Given the description of an element on the screen output the (x, y) to click on. 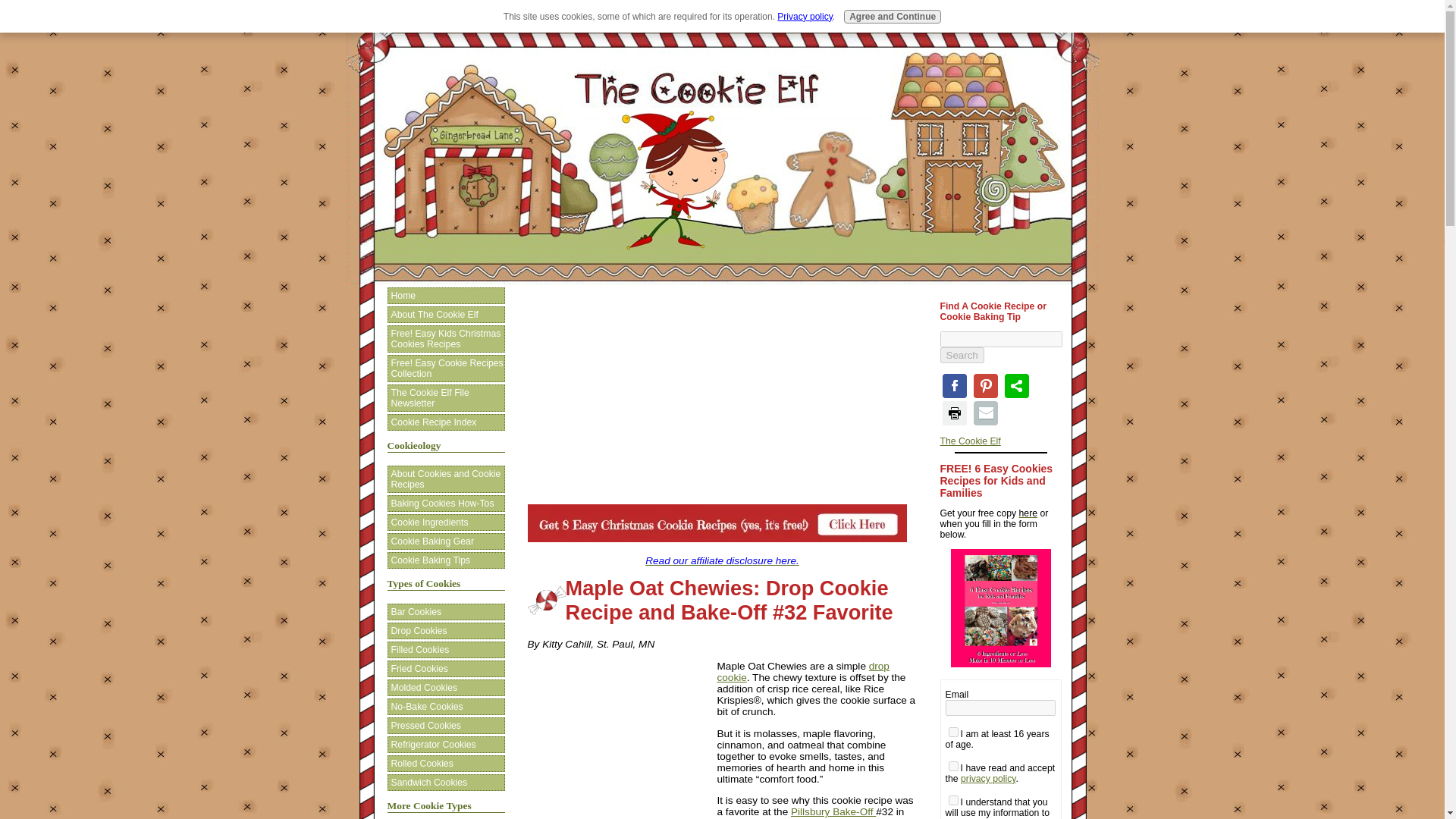
drop cookie (803, 671)
Advertisement (622, 739)
on (953, 732)
Home (445, 295)
About The Cookie Elf (445, 314)
Read our affiliate disclosure here. (722, 560)
Free! Easy Kids Christmas Cookies Recipes (445, 338)
Search (962, 355)
on (953, 766)
Advertisement (722, 397)
Pillsbury Bake-Off (833, 811)
on (953, 800)
